Given the description of an element on the screen output the (x, y) to click on. 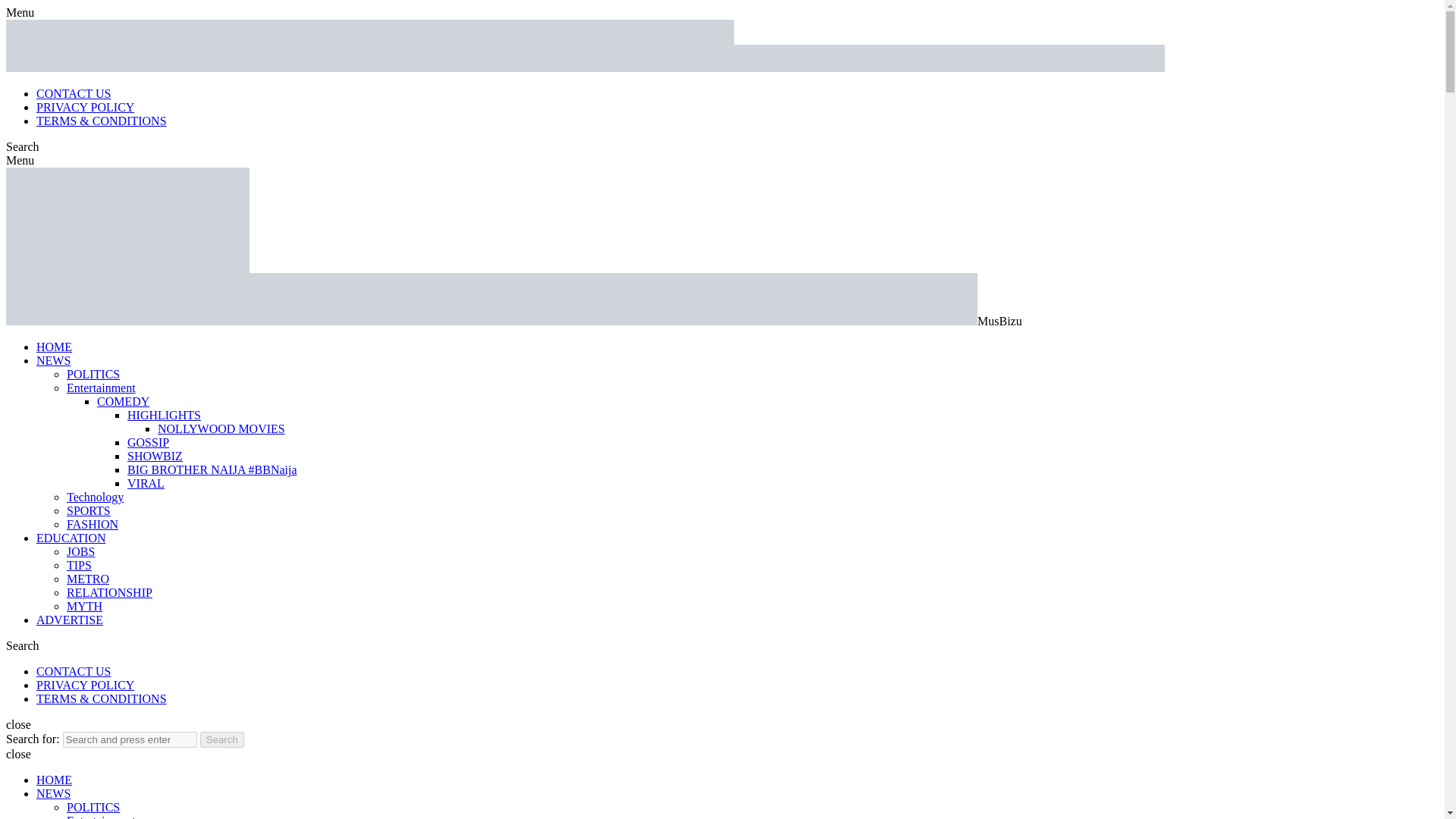
NEWS (52, 793)
POLITICS (92, 373)
COMEDY (123, 400)
NEWS (52, 359)
HOME (53, 779)
HIGHLIGHTS (164, 414)
POLITICS (92, 807)
NOLLYWOOD MOVIES (221, 428)
TIPS (78, 564)
CONTACT US (73, 671)
Technology (94, 496)
Search (222, 739)
Entertainment (100, 387)
EDUCATION (71, 537)
PRIVACY POLICY (84, 106)
